Given the description of an element on the screen output the (x, y) to click on. 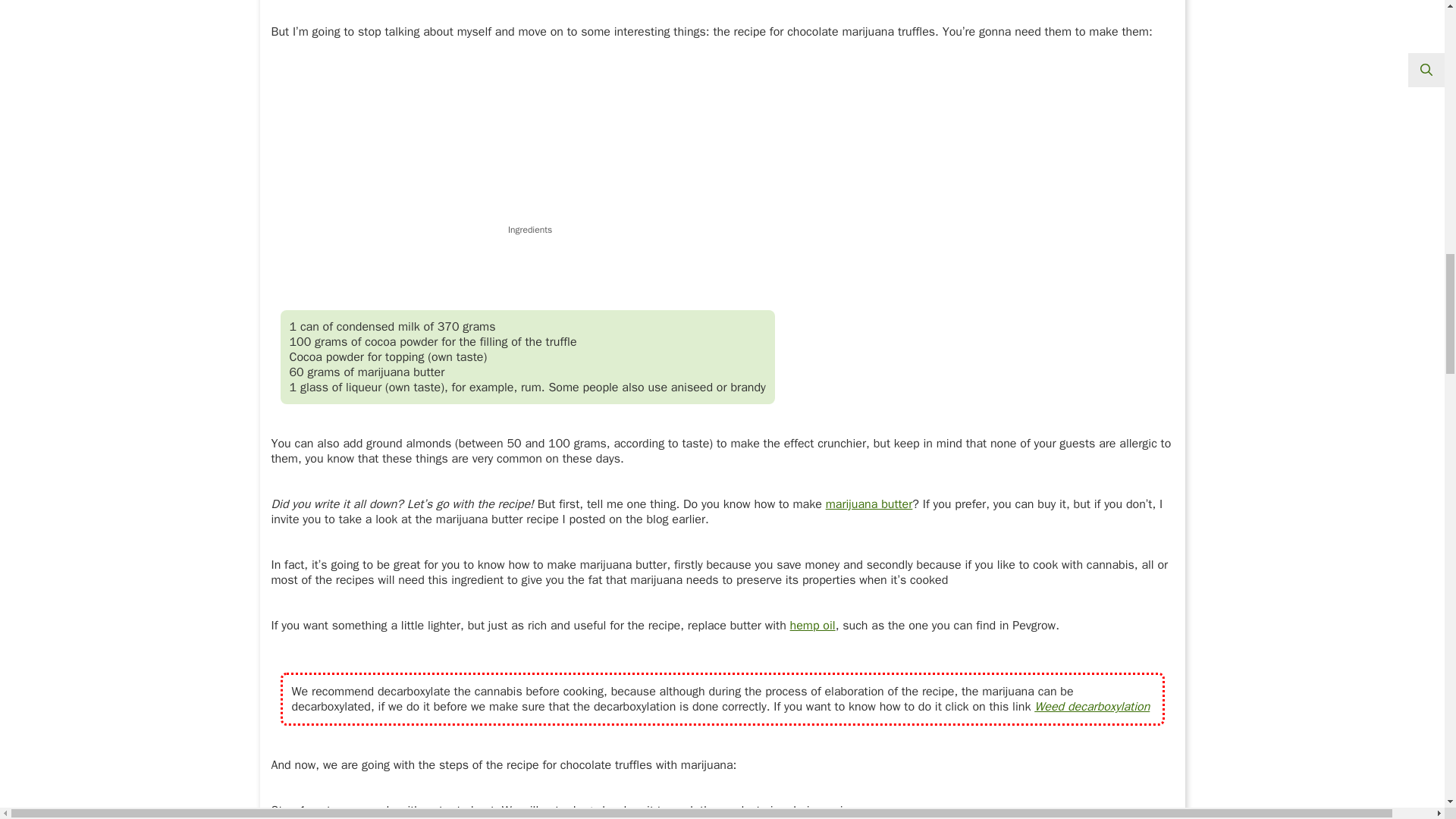
marijuana butter (868, 503)
hemp oil (812, 625)
Weed decarboxylation (1091, 706)
